Given the description of an element on the screen output the (x, y) to click on. 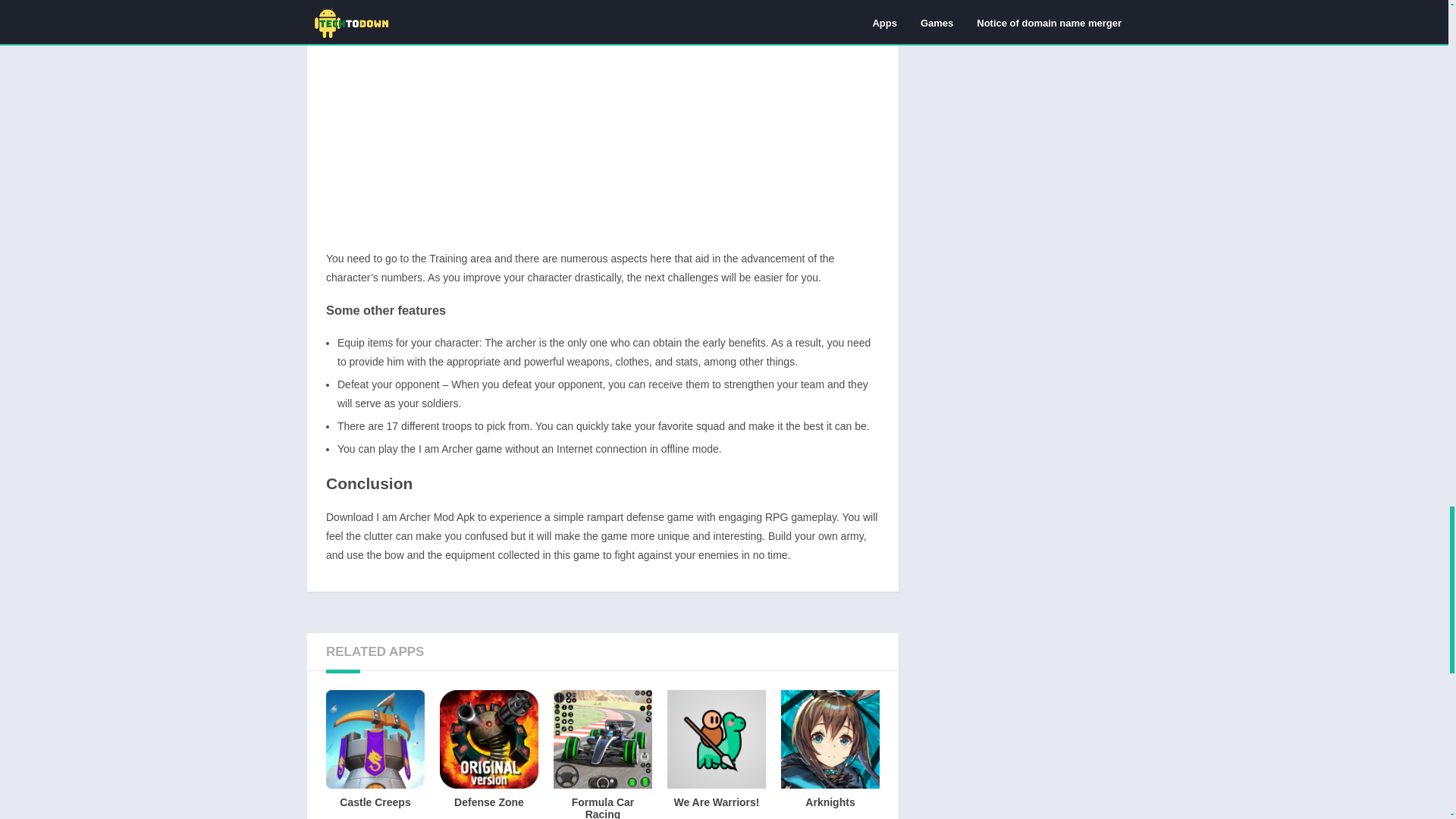
I am Archer 4 (602, 119)
